Given the description of an element on the screen output the (x, y) to click on. 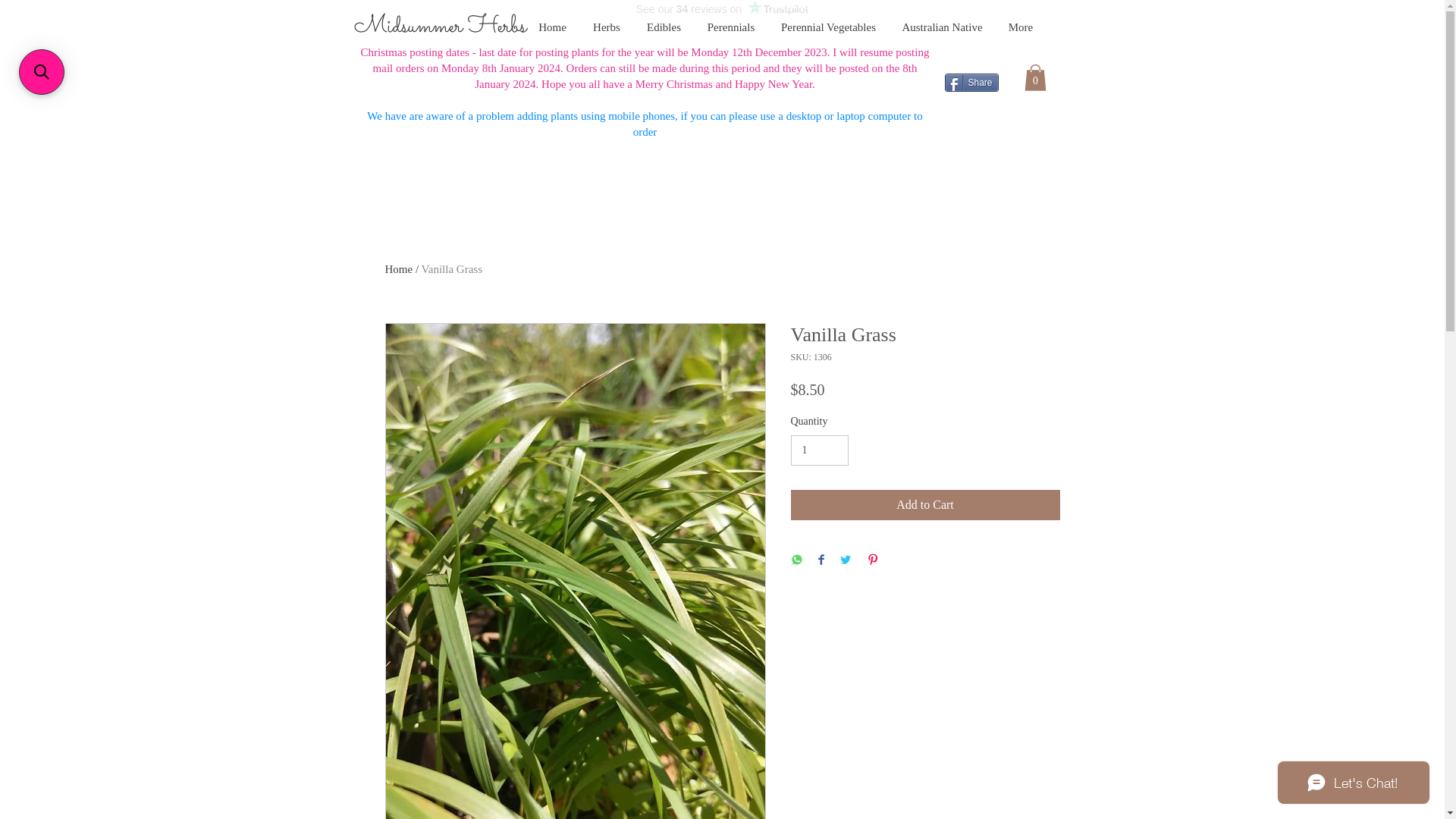
Home Element type: text (399, 269)
Perennial Vegetables Element type: text (827, 20)
Vanilla Grass Element type: text (451, 269)
0 Element type: text (1034, 77)
Herbs Element type: text (606, 20)
Midsummer Herbs Element type: text (440, 26)
Embedded Content Element type: hover (143, 43)
Edibles Element type: text (663, 20)
Share Element type: text (971, 82)
Add to Cart Element type: text (924, 504)
Perennials Element type: text (731, 20)
Australian Native Element type: text (941, 20)
Customer reviews powered by Trustpilot Element type: hover (722, 9)
Home Element type: text (551, 20)
TrustPilot Element type: hover (718, 168)
